Given the description of an element on the screen output the (x, y) to click on. 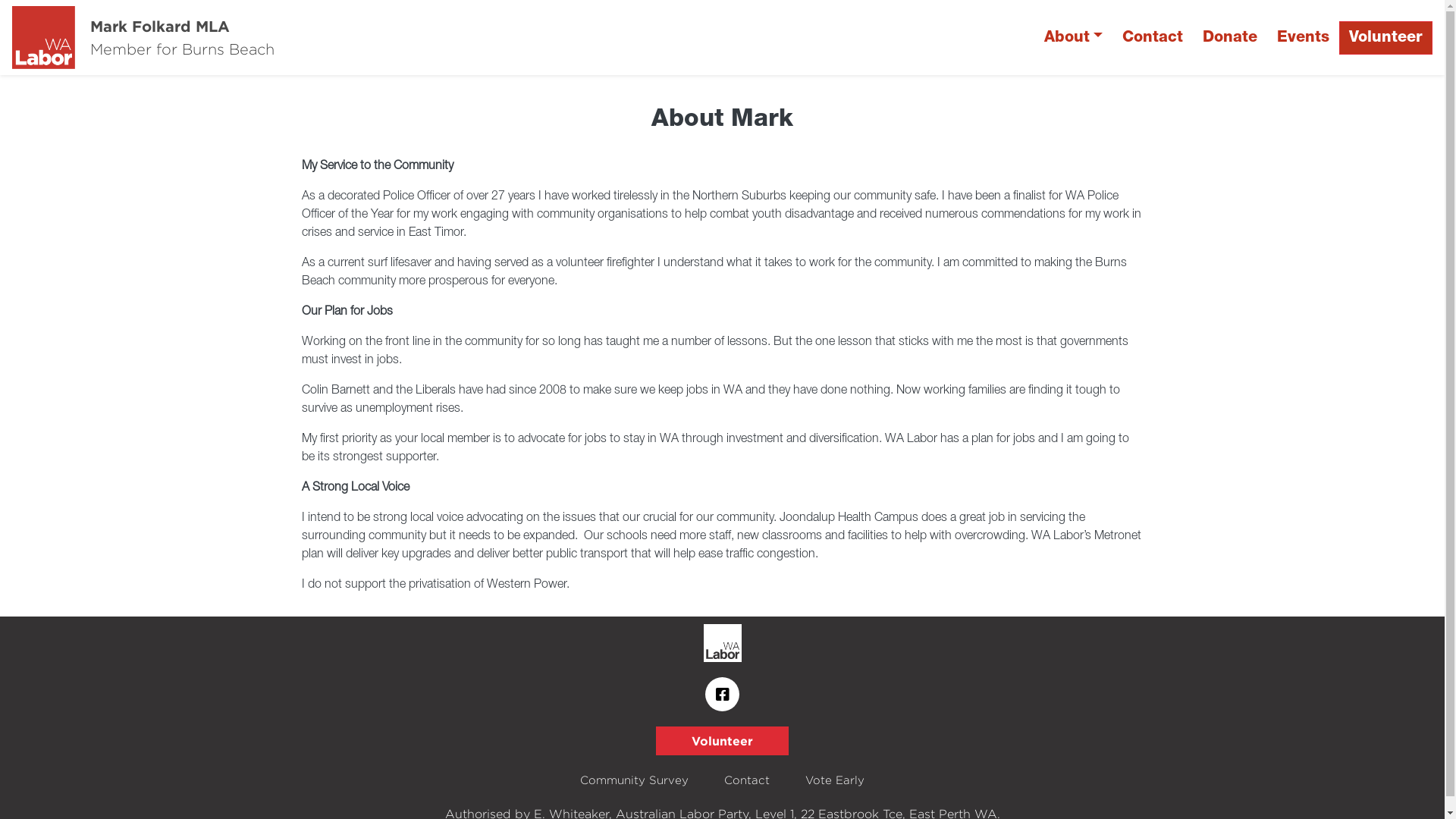
Community Survey Element type: text (634, 780)
Donate Element type: text (1229, 37)
Volunteer Element type: text (1385, 37)
Contact Element type: text (746, 780)
Vote Early Element type: text (834, 780)
Contact Element type: text (1152, 37)
Volunteer Element type: text (721, 740)
Events Element type: text (1303, 37)
About Element type: text (1073, 37)
